Given the description of an element on the screen output the (x, y) to click on. 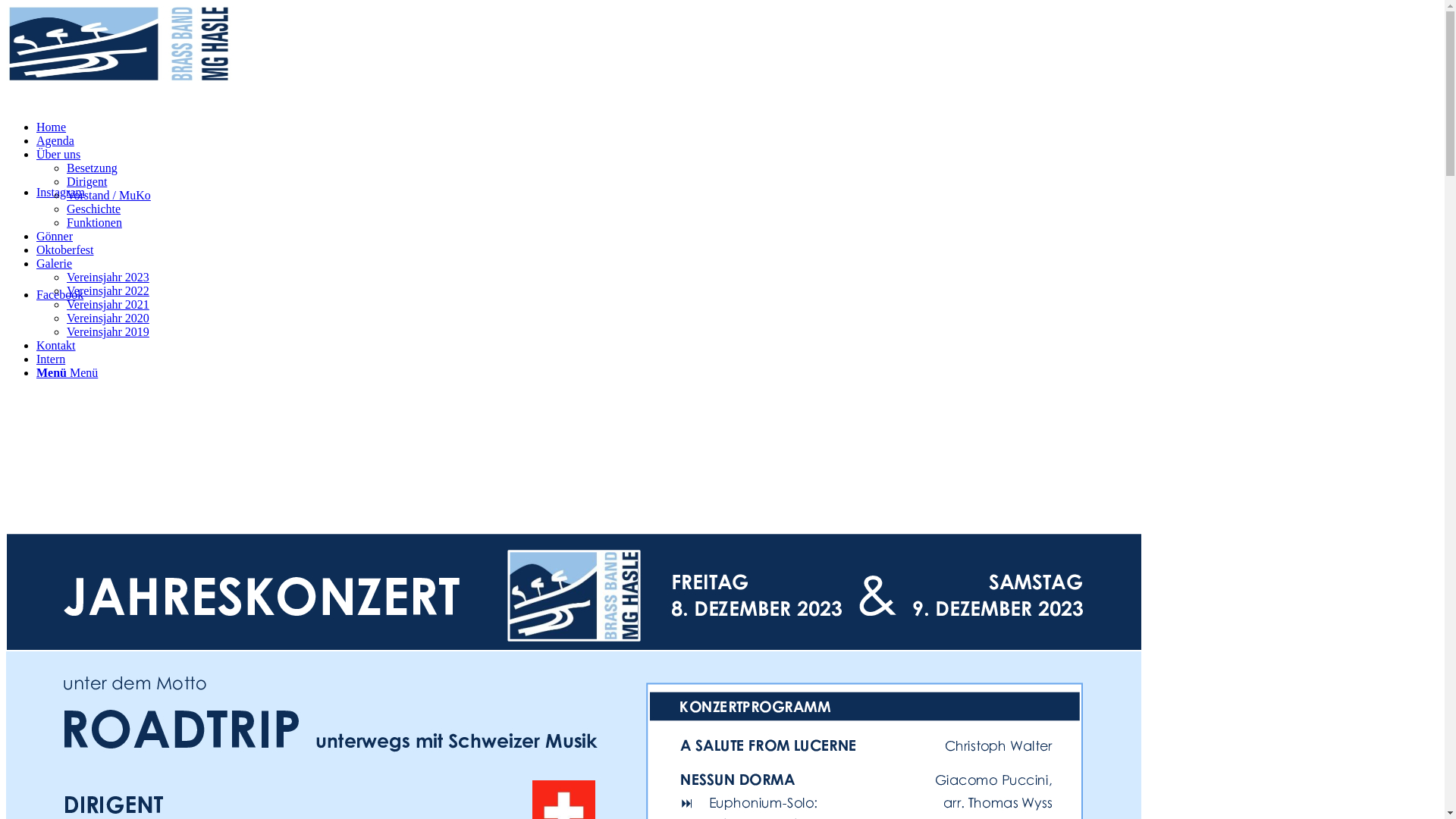
Agenda Element type: text (55, 140)
Oktoberfest Element type: text (65, 249)
Home Element type: text (50, 126)
Vereinsjahr 2022 Element type: text (107, 290)
Vorstand / MuKo Element type: text (108, 194)
Facebook Element type: text (59, 294)
Kontakt Element type: text (55, 344)
Vereinsjahr 2023 Element type: text (107, 276)
Galerie Element type: text (54, 263)
Intern Element type: text (50, 358)
Vereinsjahr 2020 Element type: text (107, 317)
Geschichte Element type: text (93, 208)
Besetzung Element type: text (91, 167)
Vereinsjahr 2019 Element type: text (107, 331)
Vereinsjahr 2021 Element type: text (107, 304)
Dirigent Element type: text (86, 181)
Funktionen Element type: text (94, 222)
Instagram Element type: text (60, 191)
